Given the description of an element on the screen output the (x, y) to click on. 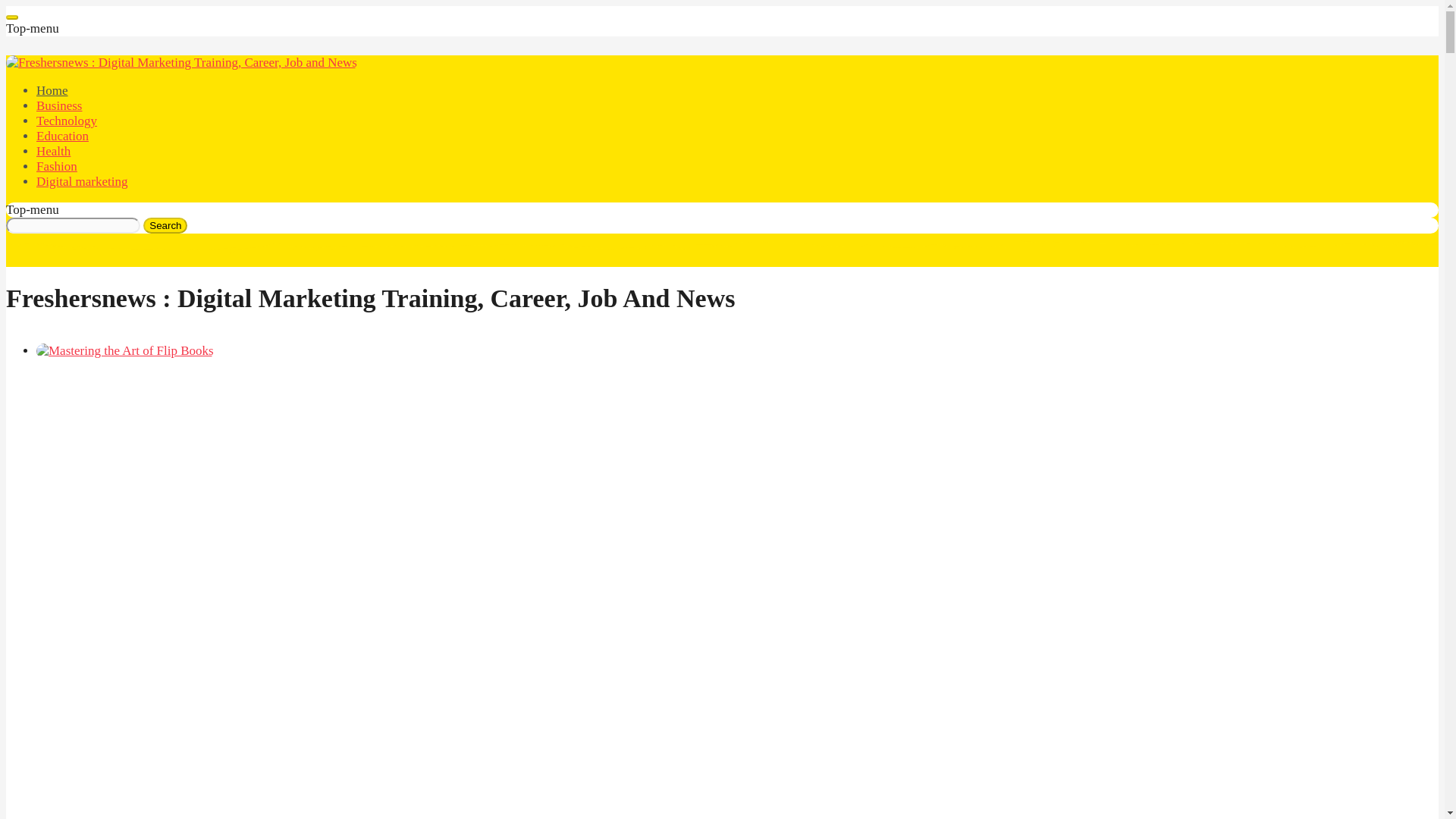
Business (58, 105)
Search (164, 225)
Education (62, 135)
Technology (66, 120)
Digital marketing (82, 181)
Health (52, 151)
Home (52, 90)
Fashion (56, 165)
